Given the description of an element on the screen output the (x, y) to click on. 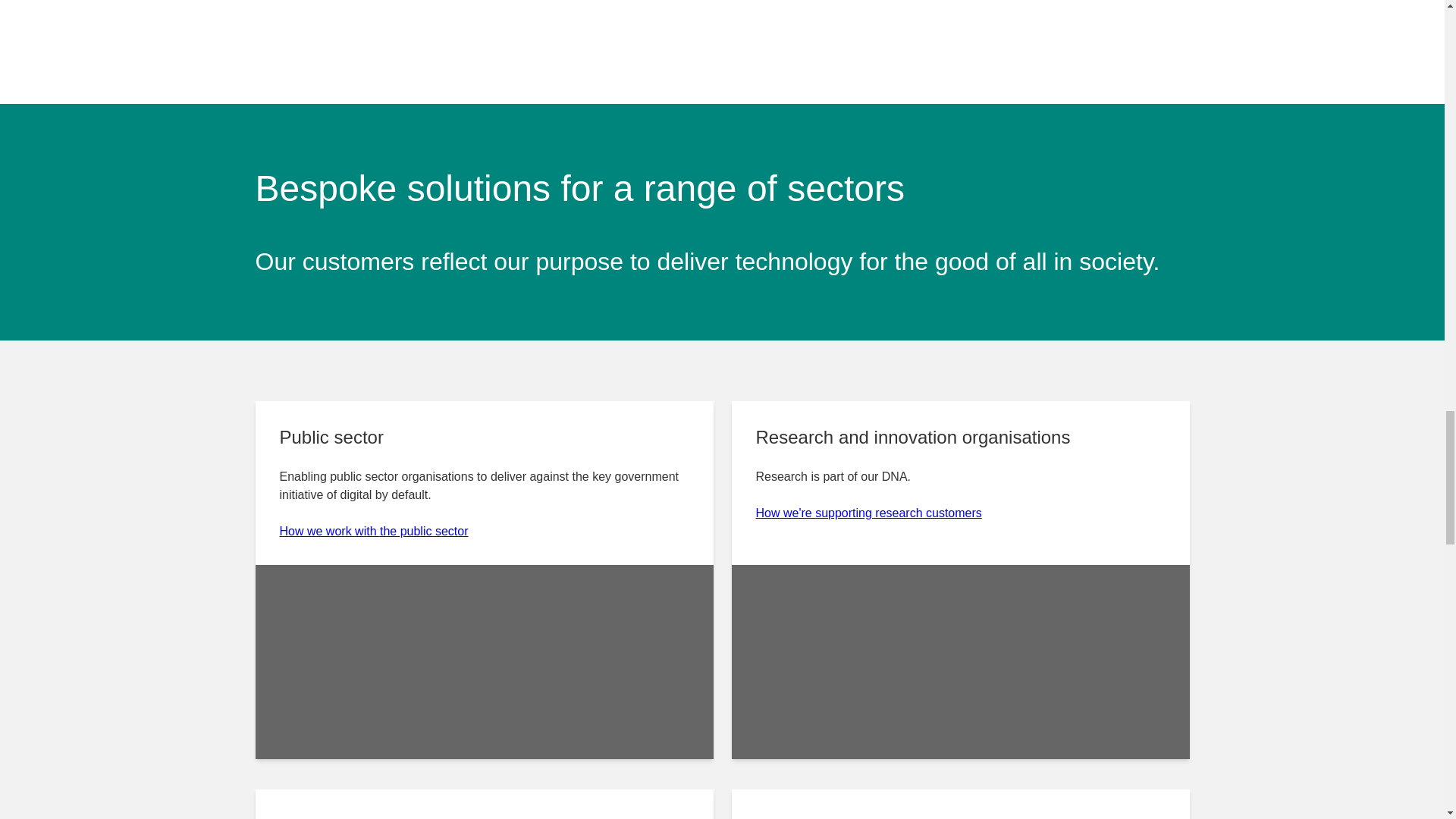
How we're supporting research customers (868, 512)
How we work with the public sector (373, 530)
About the Janet Network (721, 36)
